Given the description of an element on the screen output the (x, y) to click on. 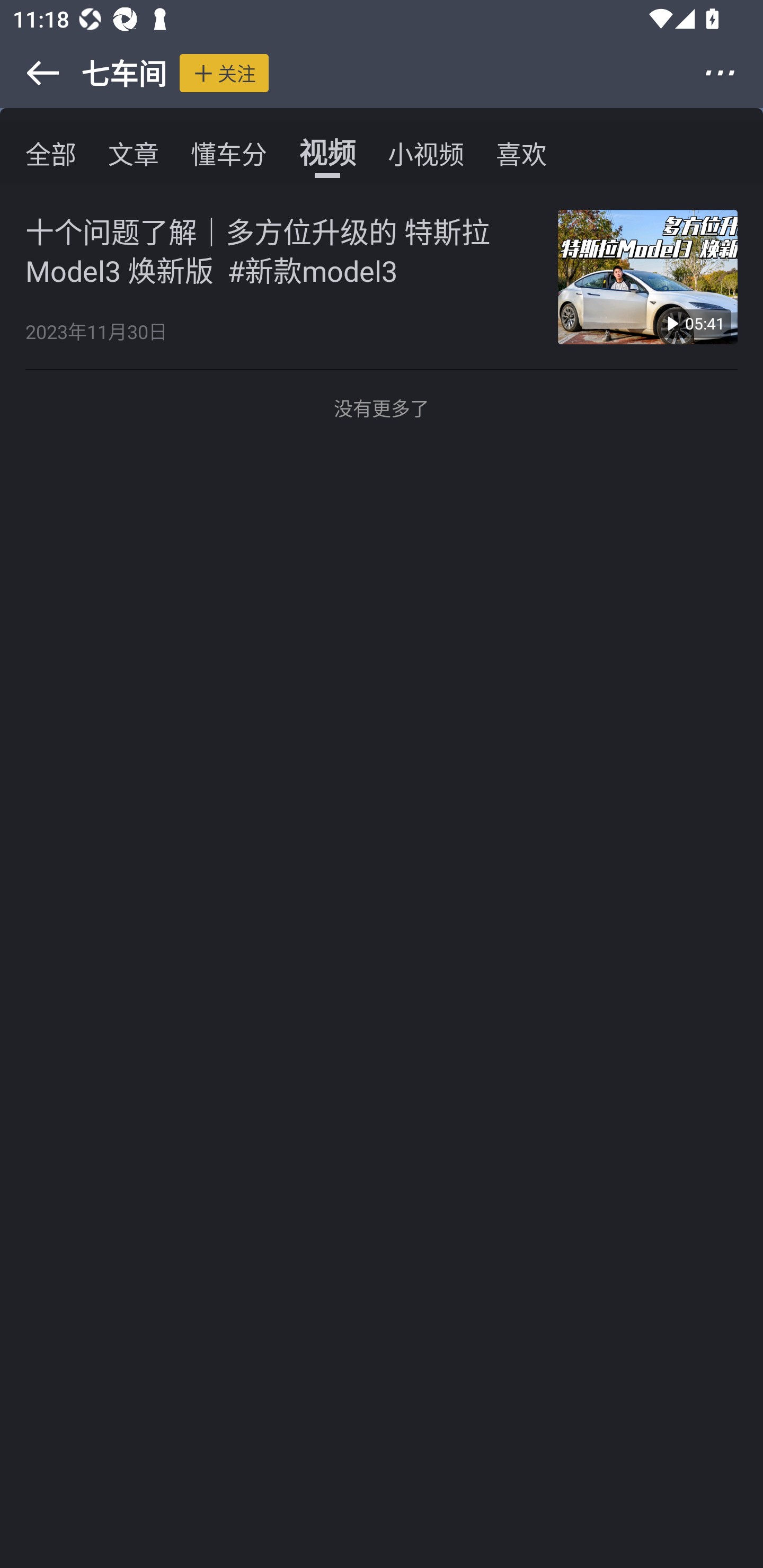
 (30, 72)
 (732, 72)
 关注 (223, 72)
全部 (50, 152)
文章 (133, 152)
懂车分 (228, 152)
视频 (327, 152)
小视频 (425, 152)
喜欢 (521, 152)
